Given the description of an element on the screen output the (x, y) to click on. 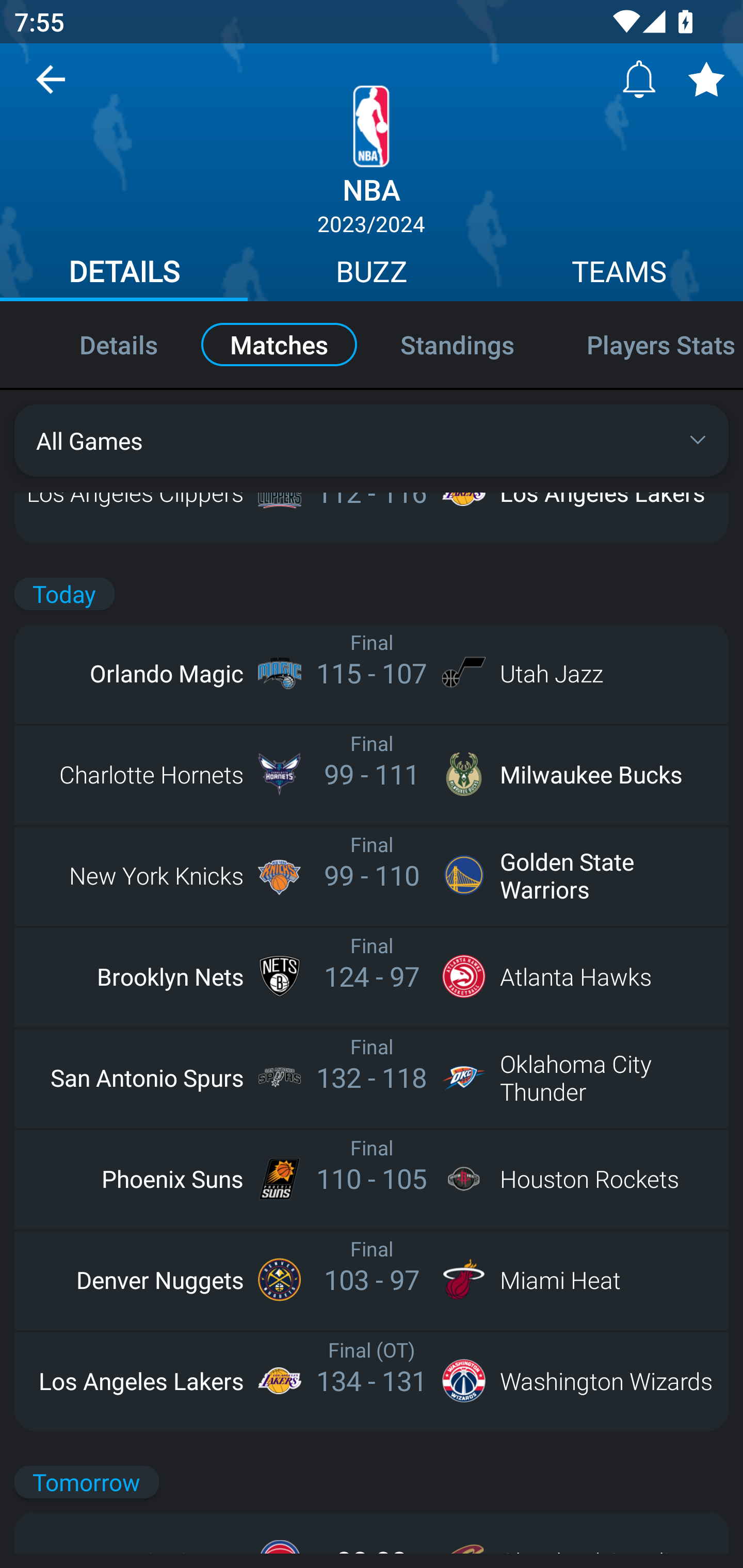
Navigate up (50, 86)
DETAILS (123, 274)
BUZZ (371, 274)
TEAMS (619, 274)
Details (96, 344)
Standings (457, 344)
Players Stats (646, 344)
All Games (371, 440)
Orlando Magic Final 115 - 107 Utah Jazz (371, 673)
Charlotte Hornets Final 99 - 111 Milwaukee Bucks (371, 774)
Brooklyn Nets Final 124 - 97 Atlanta Hawks (371, 976)
Phoenix Suns Final 110 - 105 Houston Rockets (371, 1178)
Denver Nuggets Final 103 - 97 Miami Heat (371, 1279)
